Given the description of an element on the screen output the (x, y) to click on. 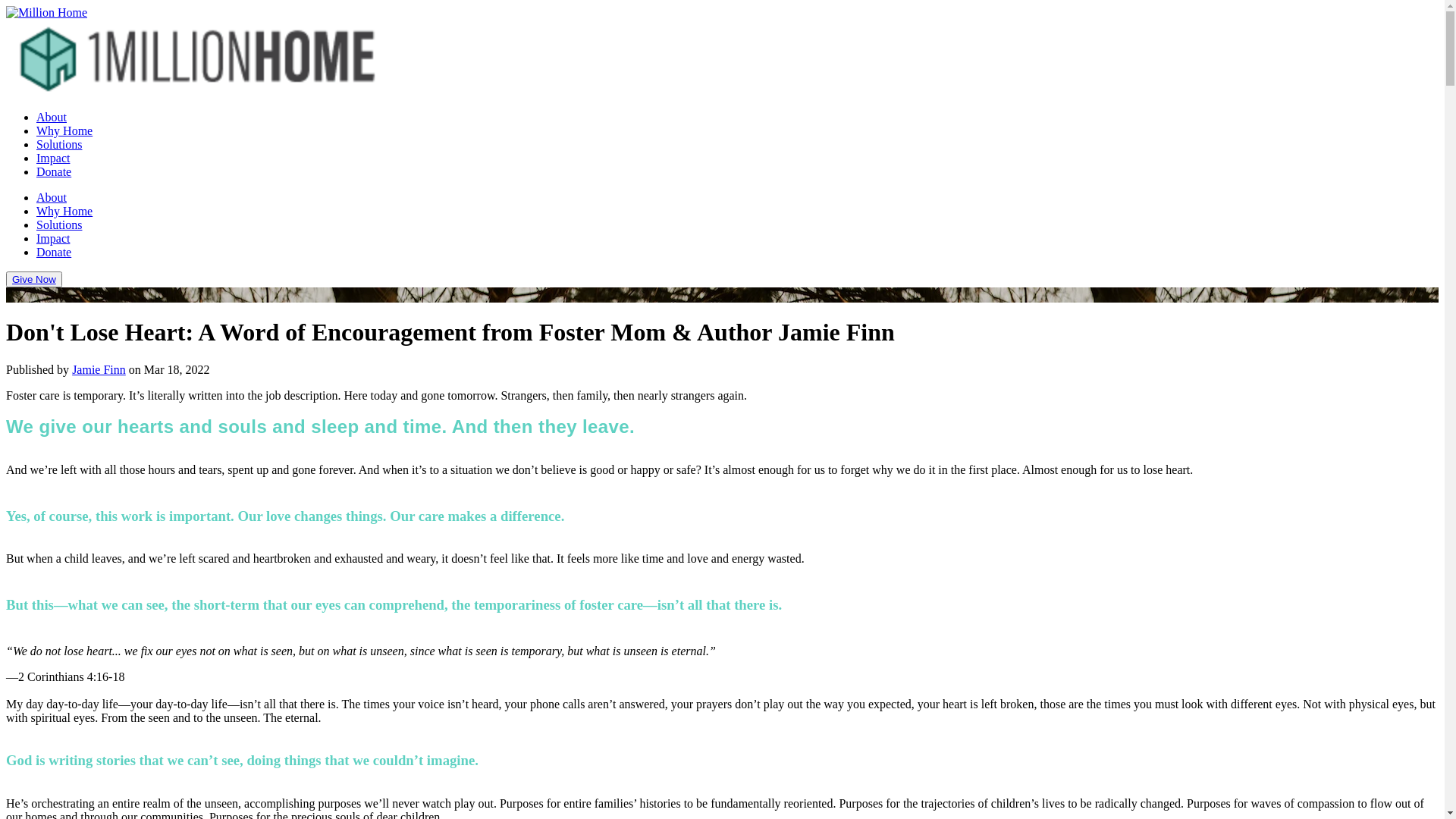
About Element type: text (51, 197)
Why Home Element type: text (64, 210)
Solutions Element type: text (58, 144)
Million Home Element type: hover (195, 57)
Donate Element type: text (53, 251)
Impact Element type: text (52, 238)
Jamie Finn Element type: text (98, 369)
About Element type: text (51, 116)
Give Now Element type: text (34, 279)
Why Home Element type: text (64, 130)
Solutions Element type: text (58, 224)
Million Home Element type: hover (46, 12)
Give Now Element type: text (34, 279)
Impact Element type: text (52, 157)
Donate Element type: text (53, 171)
